Given the description of an element on the screen output the (x, y) to click on. 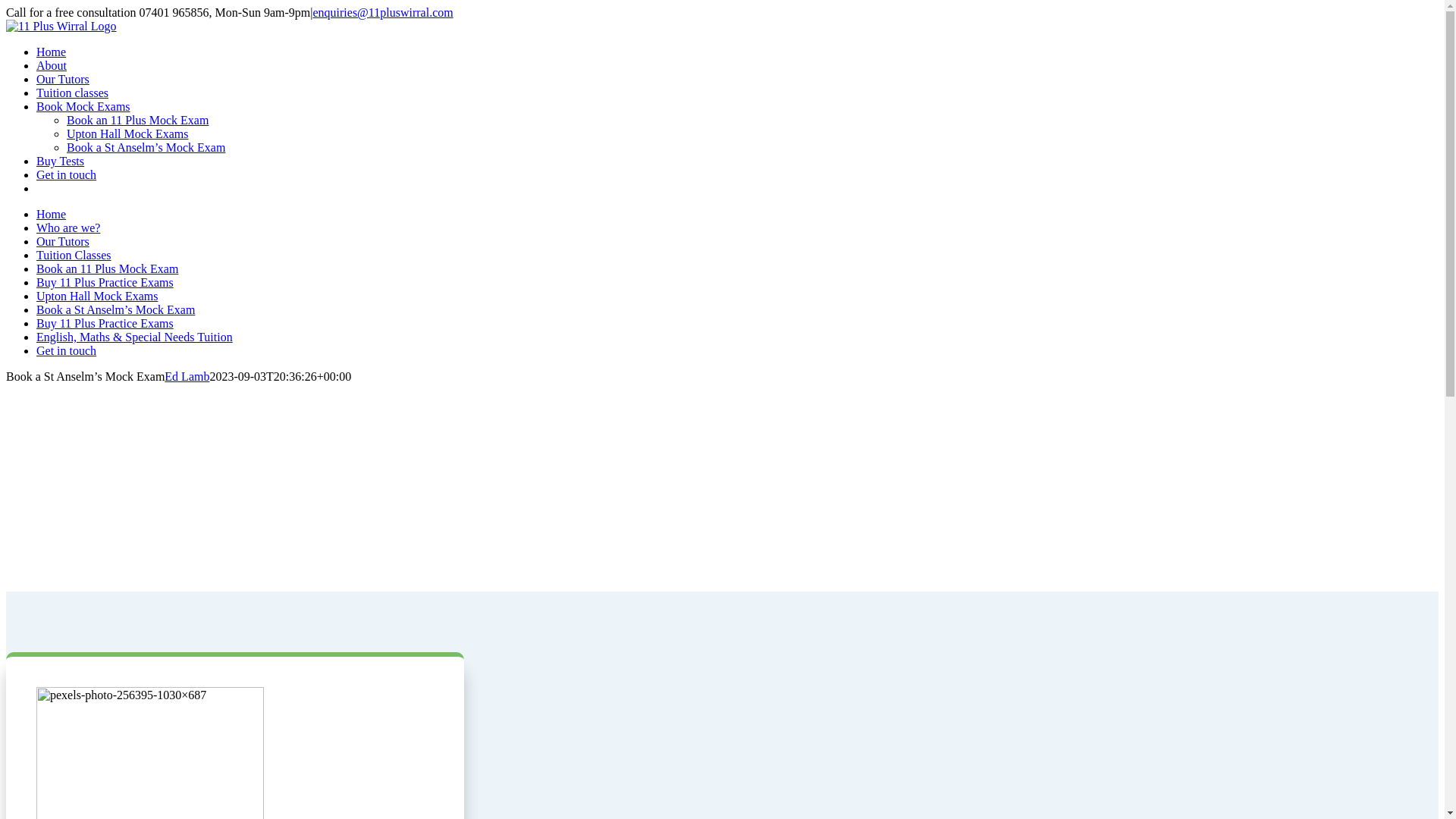
Tuition classes Element type: text (72, 92)
Buy Tests Element type: text (60, 160)
Book Mock Exams Element type: text (83, 106)
Skip to content Element type: text (5, 5)
Tuition Classes Element type: text (73, 254)
Home Element type: text (50, 213)
Buy 11 Plus Practice Exams Element type: text (104, 322)
About Element type: text (51, 65)
Get in touch Element type: text (66, 174)
Book an 11 Plus Mock Exam Element type: text (137, 119)
Book an 11 Plus Mock Exam Element type: text (107, 268)
enquiries@11pluswirral.com Element type: text (382, 12)
Our Tutors Element type: text (62, 241)
Buy 11 Plus Practice Exams Element type: text (104, 282)
English, Maths & Special Needs Tuition Element type: text (134, 336)
Upton Hall Mock Exams Element type: text (96, 295)
Who are we? Element type: text (68, 227)
Ed Lamb Element type: text (186, 376)
Our Tutors Element type: text (62, 78)
Upton Hall Mock Exams Element type: text (127, 133)
Get in touch Element type: text (66, 350)
Home Element type: text (50, 51)
